Given the description of an element on the screen output the (x, y) to click on. 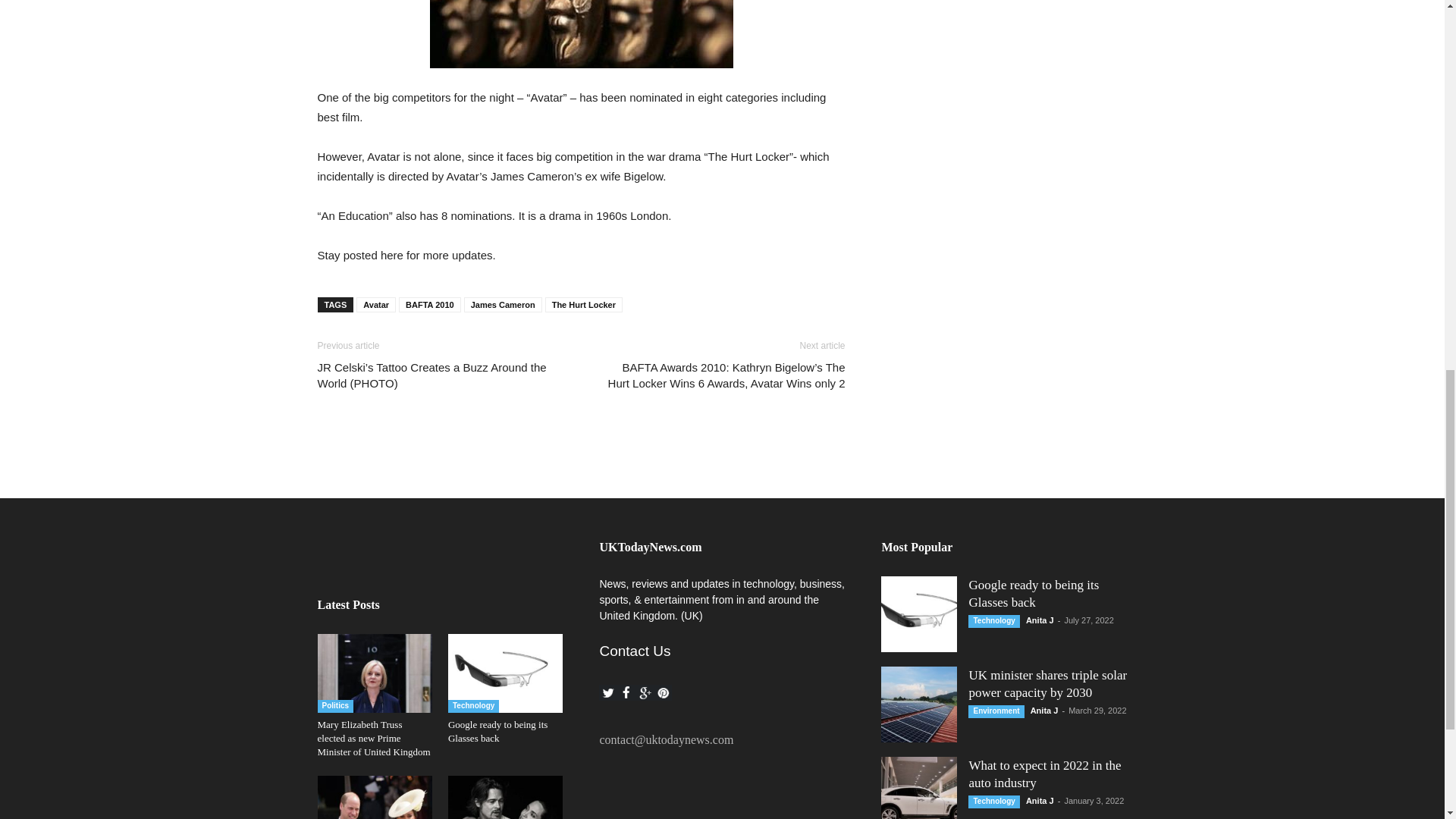
Google ready to being its Glasses back (505, 672)
BAFTA (580, 33)
Google ready to being its Glasses back (497, 731)
